Given the description of an element on the screen output the (x, y) to click on. 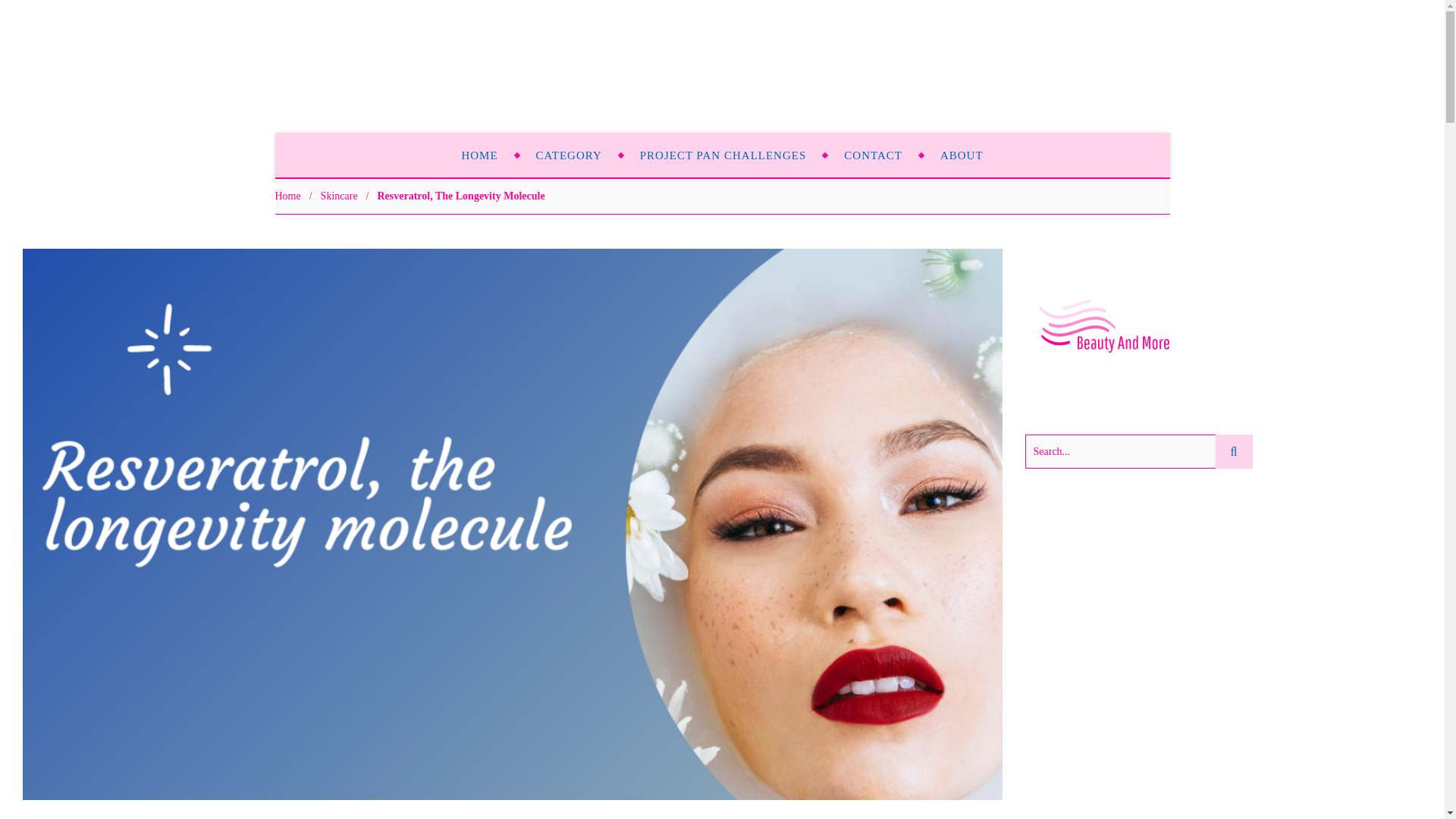
Skincare (339, 195)
PROJECT PAN CHALLENGES (723, 155)
ABOUT (962, 155)
Resveratrol, the longevity molecule (460, 195)
CATEGORY (568, 155)
CONTACT (873, 155)
Skincare (339, 195)
Home (287, 195)
Home (287, 195)
